Given the description of an element on the screen output the (x, y) to click on. 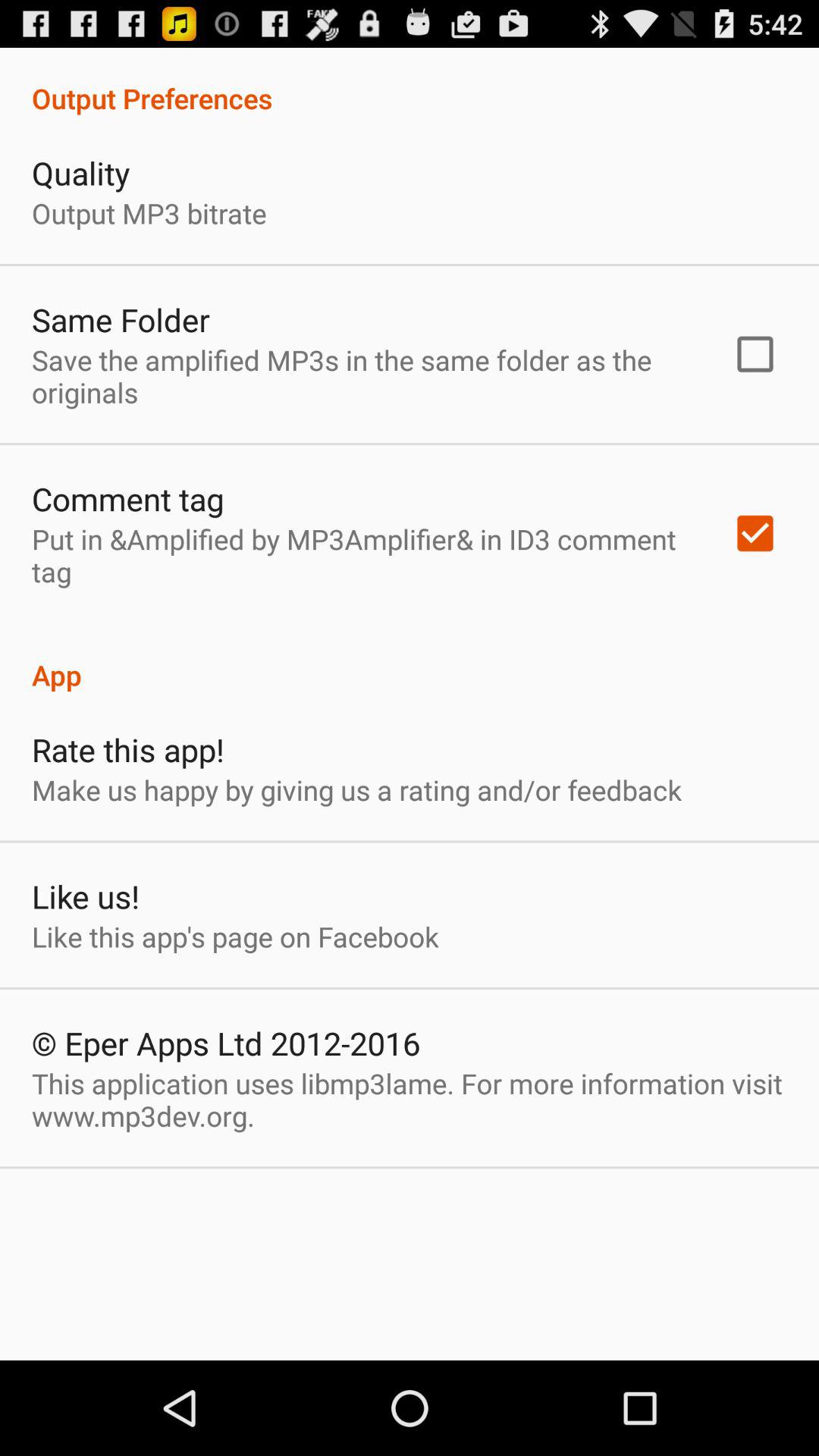
select the output mp3 bitrate (148, 213)
